Given the description of an element on the screen output the (x, y) to click on. 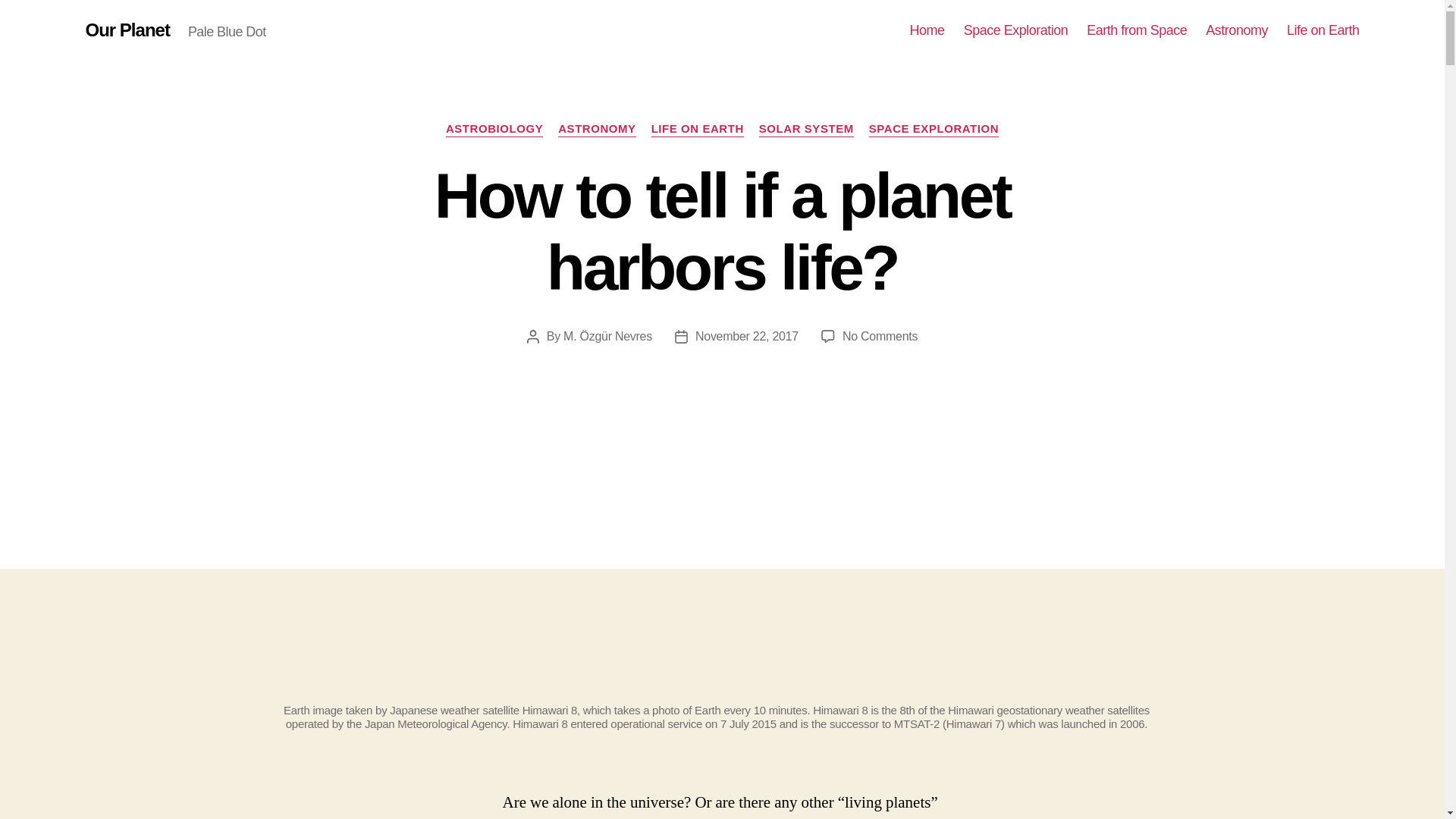
SPACE EXPLORATION (933, 129)
Space Exploration (1015, 30)
November 22, 2017 (746, 336)
Life on Earth (1323, 30)
SOLAR SYSTEM (805, 129)
Home (880, 336)
LIFE ON EARTH (927, 30)
Our Planet (697, 129)
Earth from Space (126, 30)
